Given the description of an element on the screen output the (x, y) to click on. 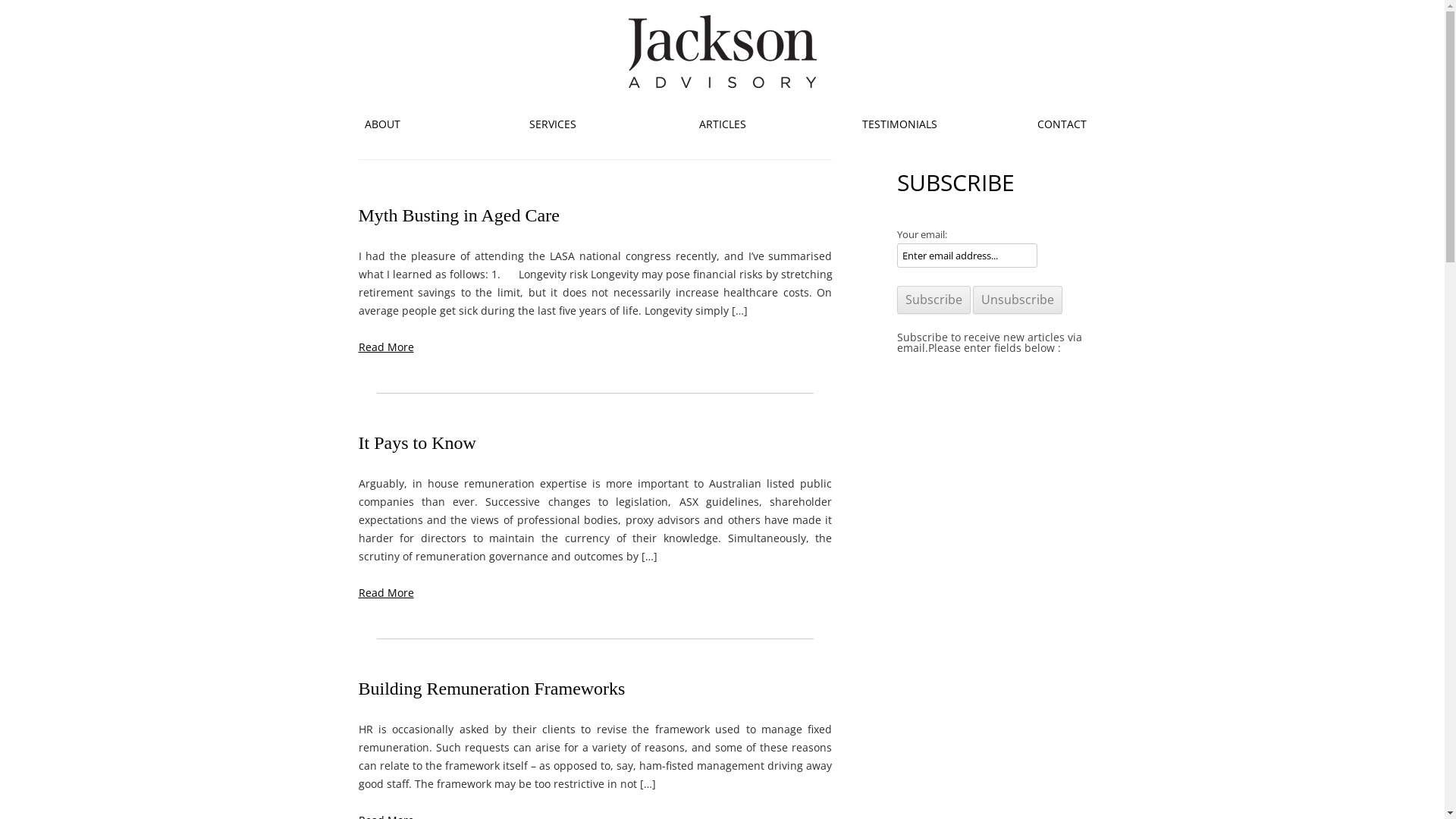
Read More Element type: text (385, 592)
Jackson Advisory | Consulting Element type: hover (721, 83)
SERVICES Element type: text (551, 124)
Skip to content Element type: text (759, 109)
Subscribe Element type: text (932, 299)
Building Remuneration Frameworks Element type: text (490, 688)
ABOUT Element type: text (381, 124)
Myth Busting in Aged Care Element type: text (457, 215)
Read More Element type: text (385, 346)
Unsubscribe Element type: text (1016, 299)
TESTIMONIALS Element type: text (891, 124)
It Pays to Know Element type: text (416, 442)
ARTICLES Element type: text (721, 124)
CONTACT Element type: text (1061, 124)
